Given the description of an element on the screen output the (x, y) to click on. 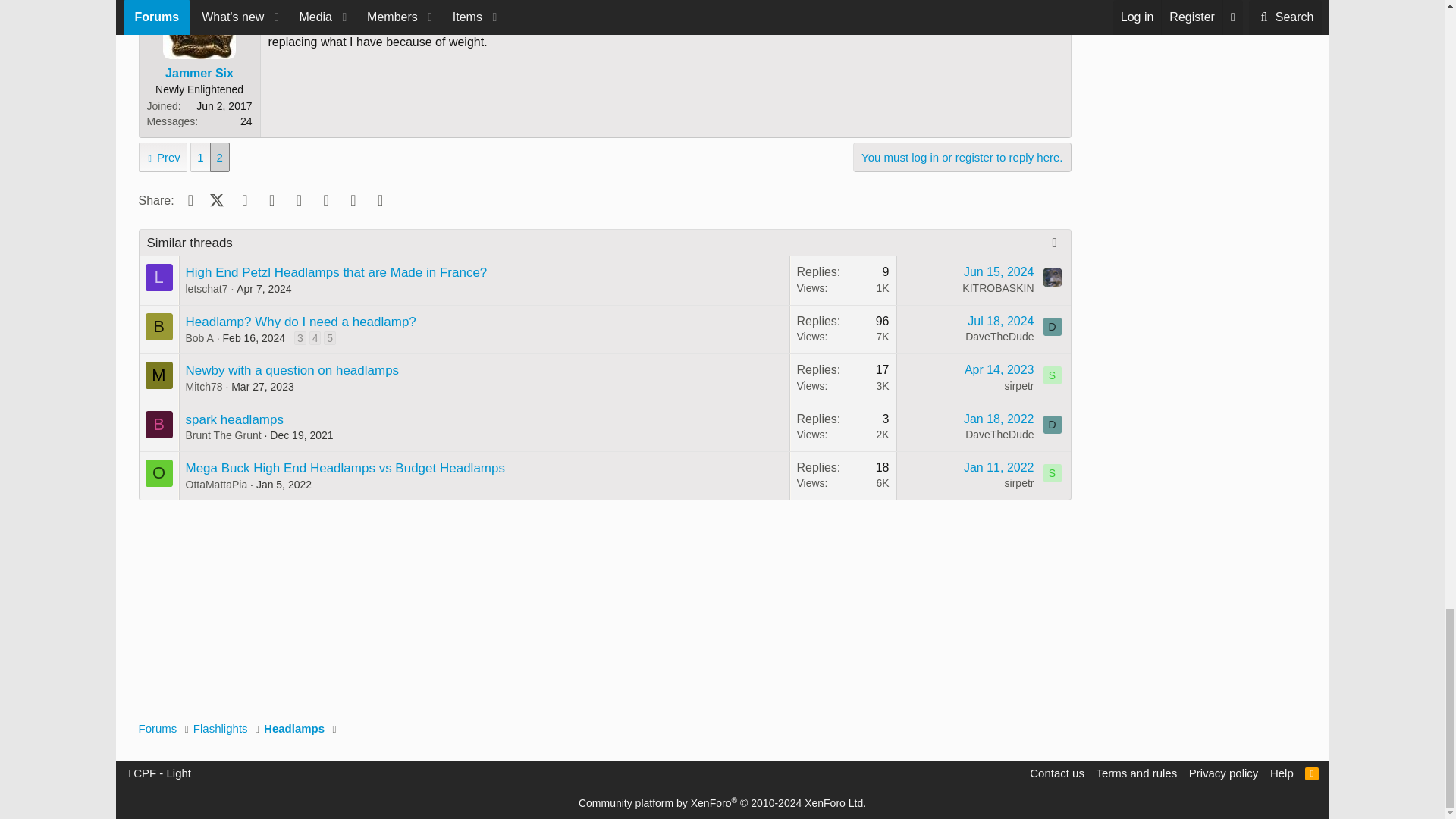
Jun 15, 2024 at 3:03 PM (998, 271)
First message reaction score: 0 (843, 279)
Jun 2, 2017 at 5:26 PM (303, 1)
Apr 7, 2024 at 12:11 PM (263, 288)
